Given the description of an element on the screen output the (x, y) to click on. 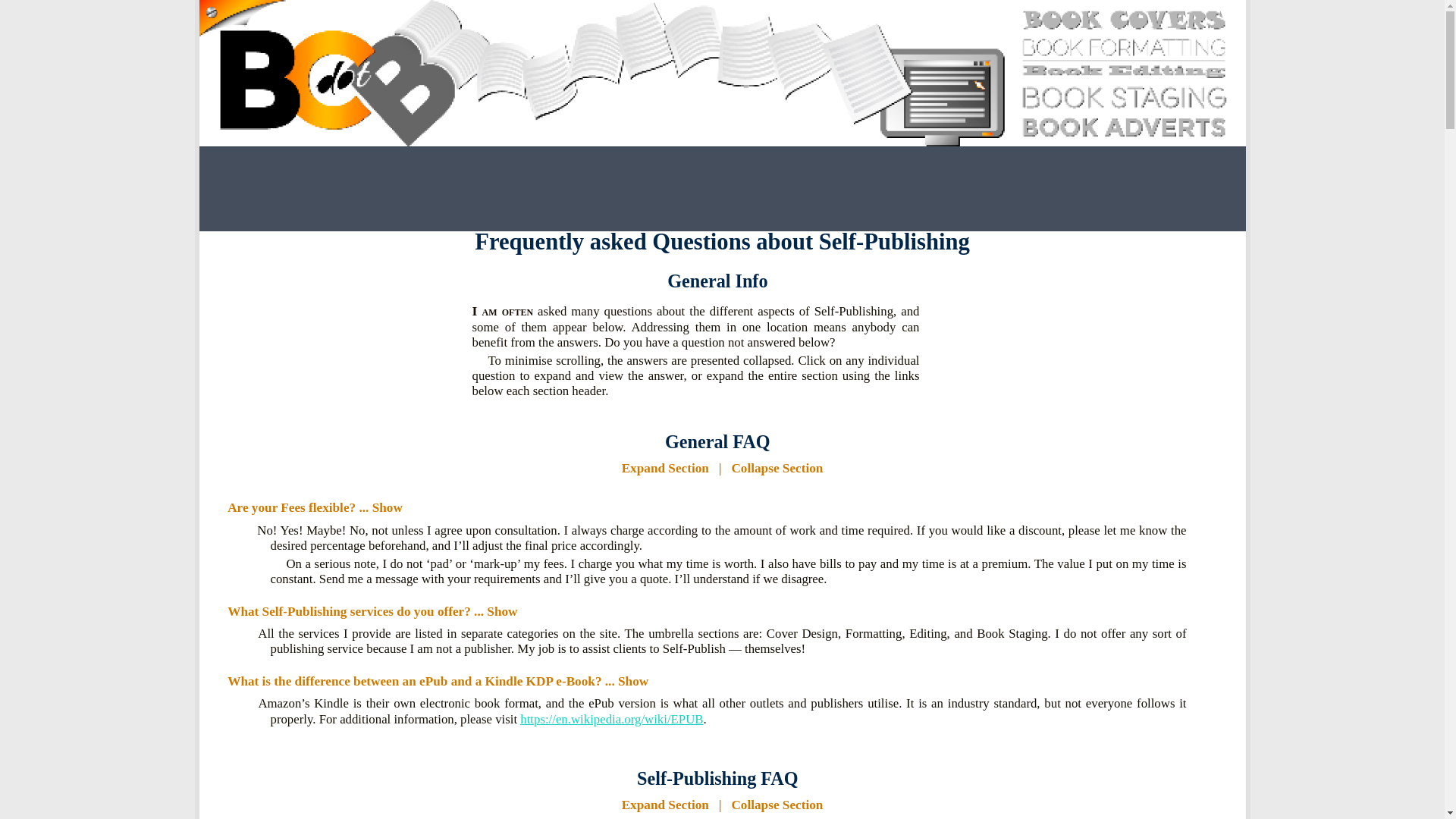
Frequently Asked Questions (885, 190)
Contact Me (967, 190)
Formatting (721, 190)
The 3D Book Staging Page (639, 190)
Below content (265, 21)
Editing (803, 190)
Staging (639, 190)
Contact me via email (967, 190)
FAQ: Frequently asked Questions about Self-Publishing (885, 190)
Covers (557, 190)
